Given the description of an element on the screen output the (x, y) to click on. 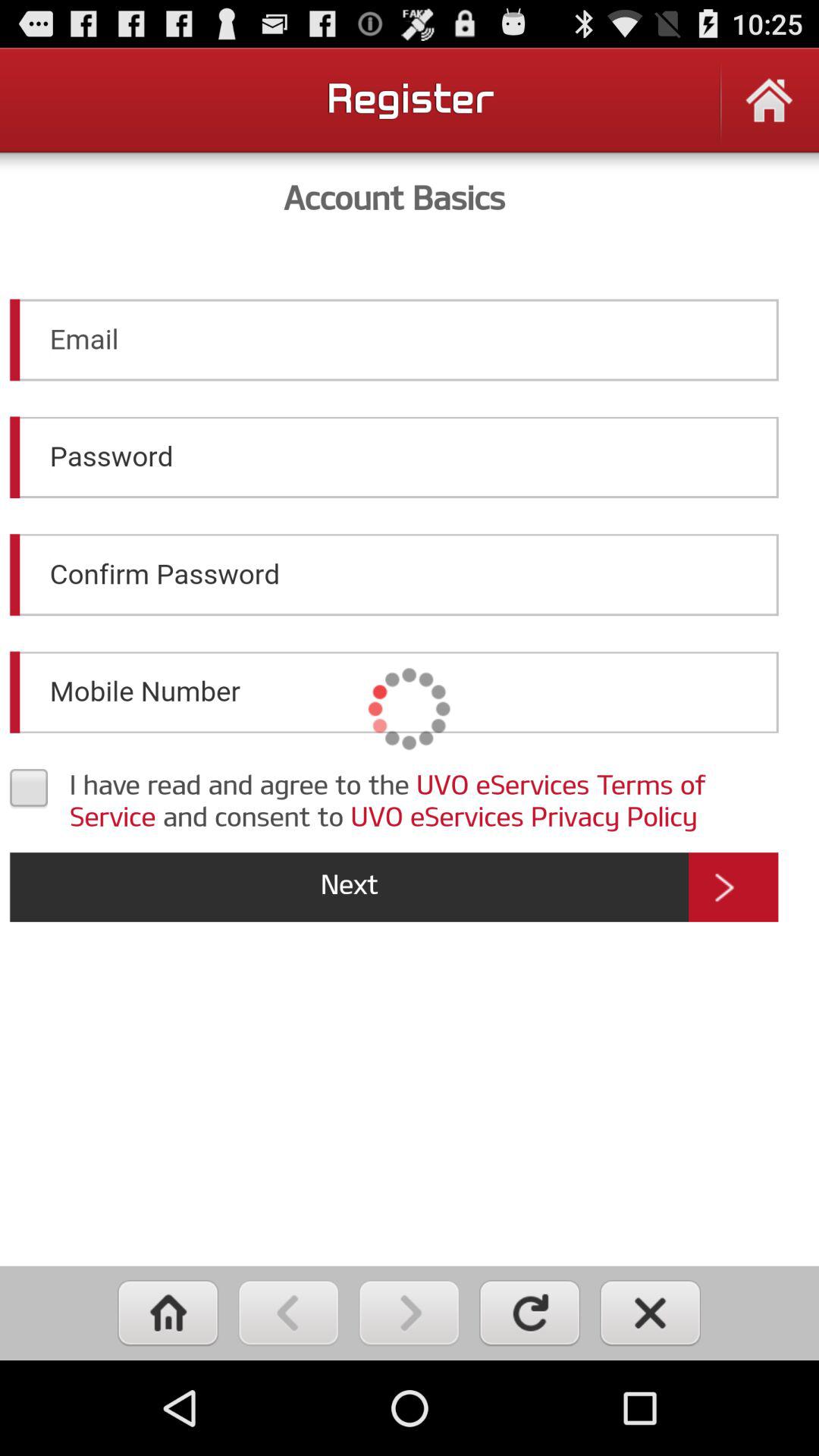
refresh page (529, 1313)
